Given the description of an element on the screen output the (x, y) to click on. 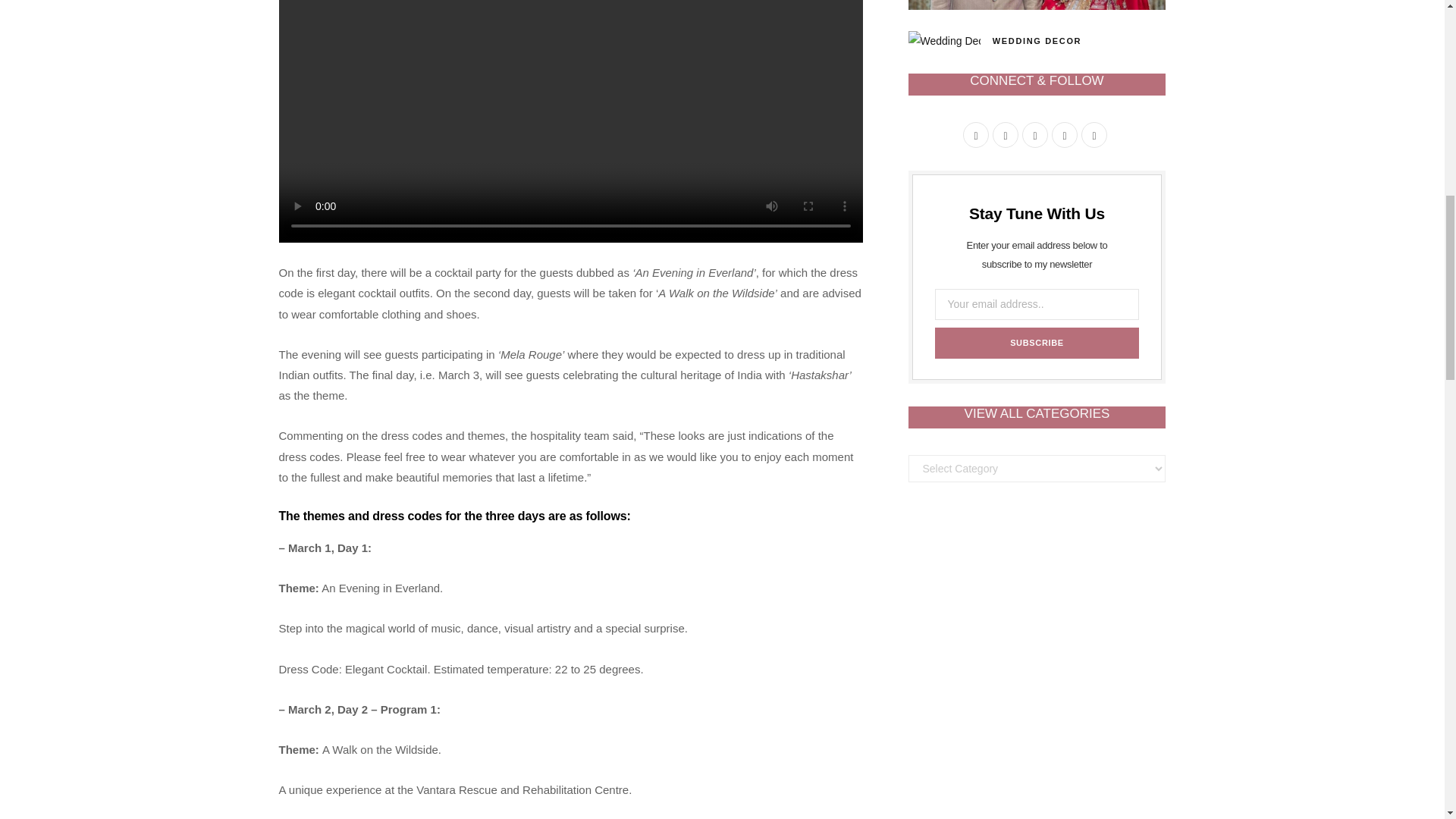
Subscribe (1036, 342)
